Given the description of an element on the screen output the (x, y) to click on. 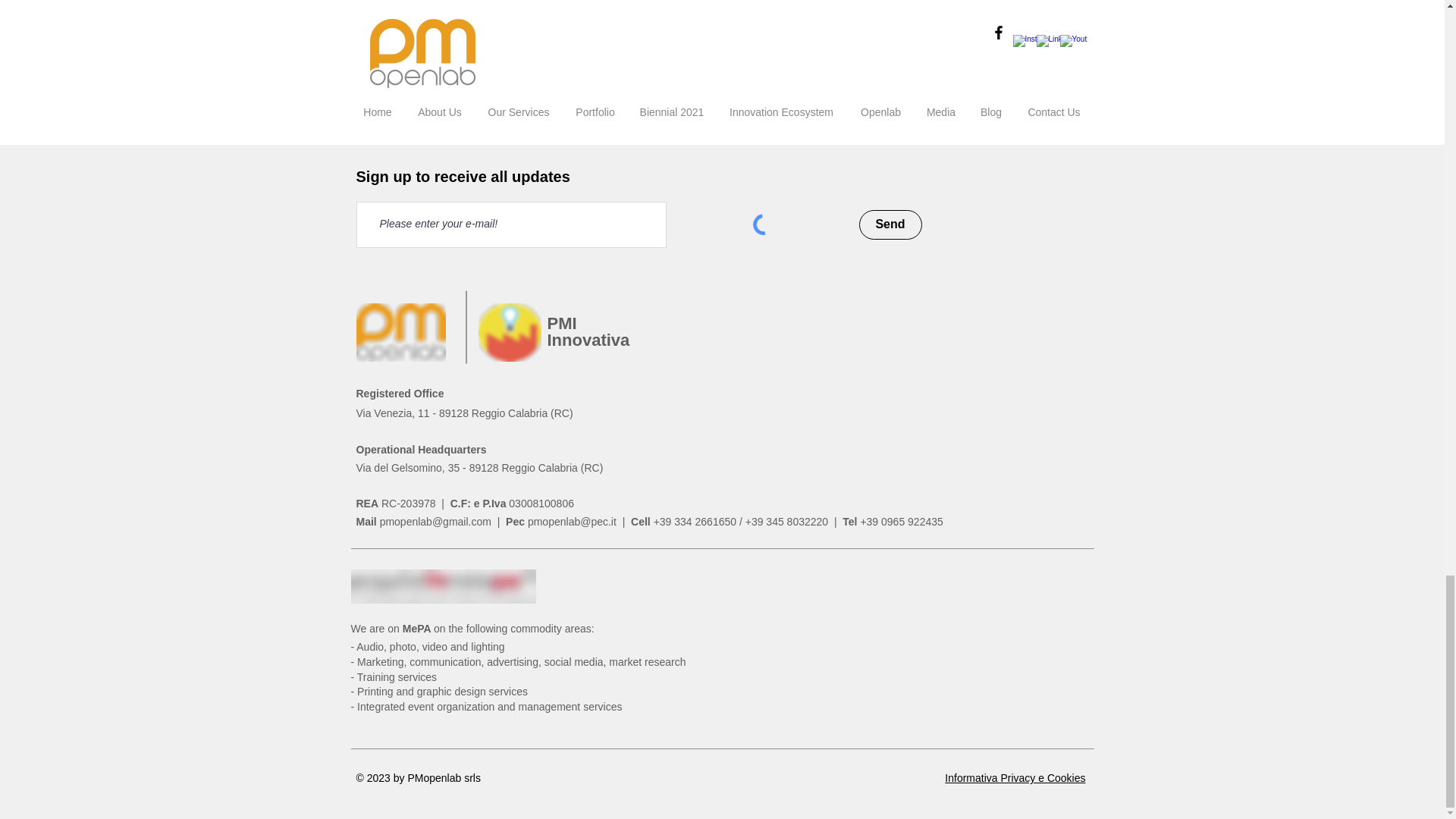
logo pmi innovative (508, 332)
Send (890, 224)
Informativa Privacy e Cookies (1014, 777)
mepa logo (442, 586)
Logo PMopenlab (400, 332)
Send (716, 59)
